Given the description of an element on the screen output the (x, y) to click on. 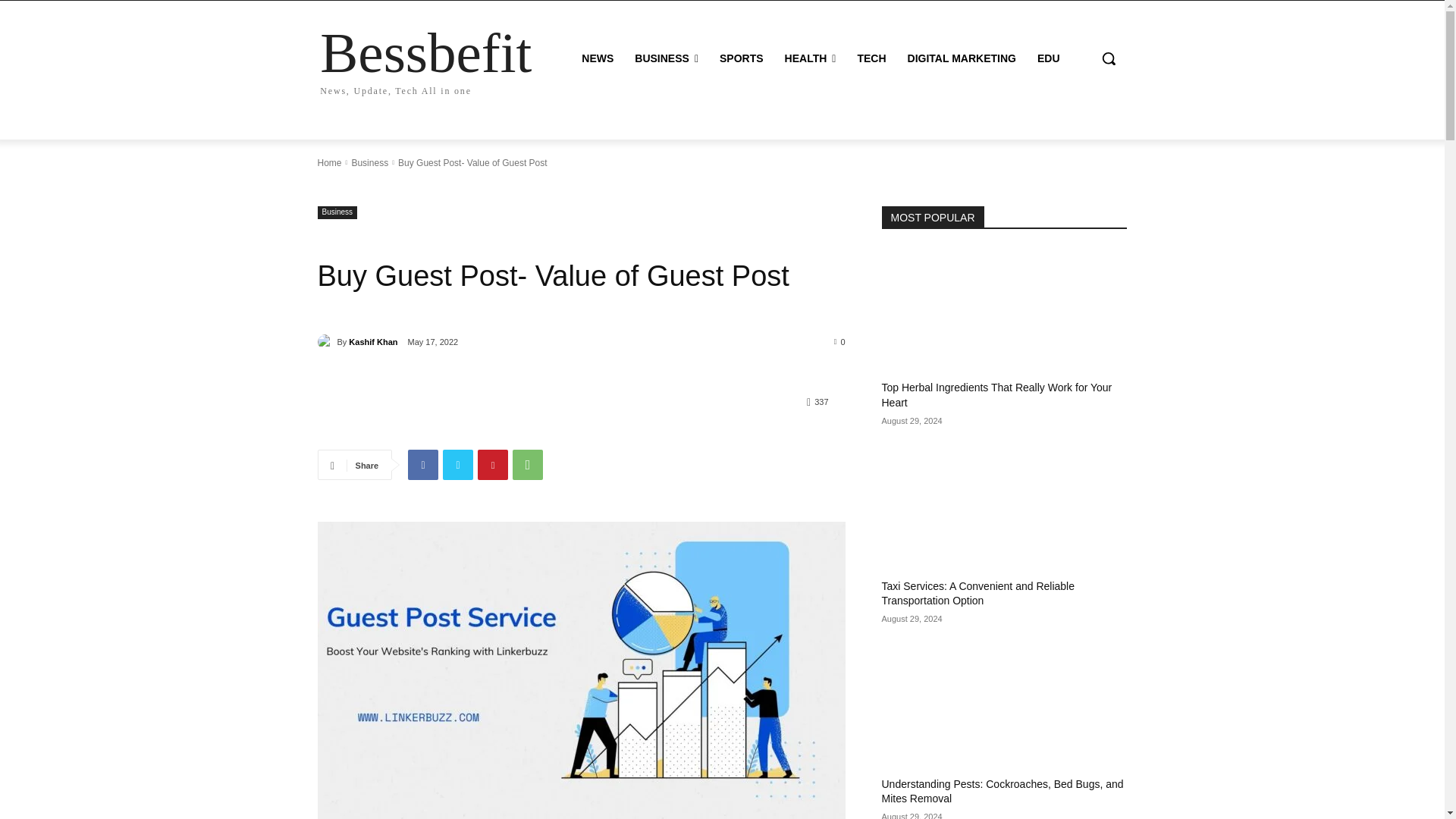
HEALTH (810, 58)
Pinterest (492, 464)
View all posts in Business (369, 163)
DIGITAL MARKETING (961, 58)
Facebook (422, 464)
EDU (1048, 58)
SPORTS (425, 58)
Home (741, 58)
TECH (328, 163)
